Given the description of an element on the screen output the (x, y) to click on. 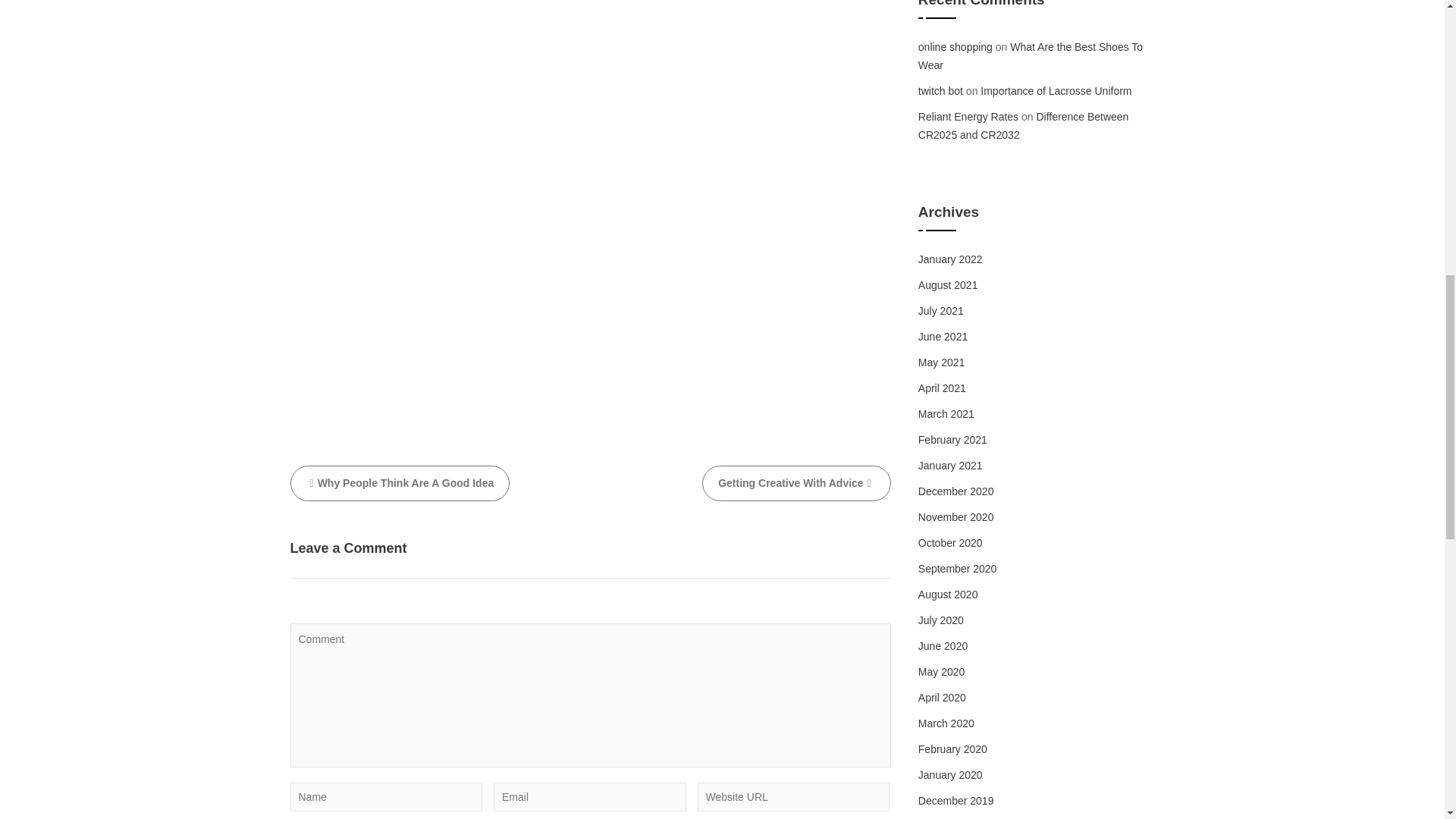
twitch bot (940, 91)
December 2020 (956, 491)
March 2021 (946, 413)
Why People Think Are A Good Idea (399, 483)
Importance of Lacrosse Uniform (1055, 91)
July 2021 (940, 310)
online shopping (955, 46)
Getting Creative With Advice (796, 483)
January 2021 (950, 465)
April 2021 (942, 387)
